Given the description of an element on the screen output the (x, y) to click on. 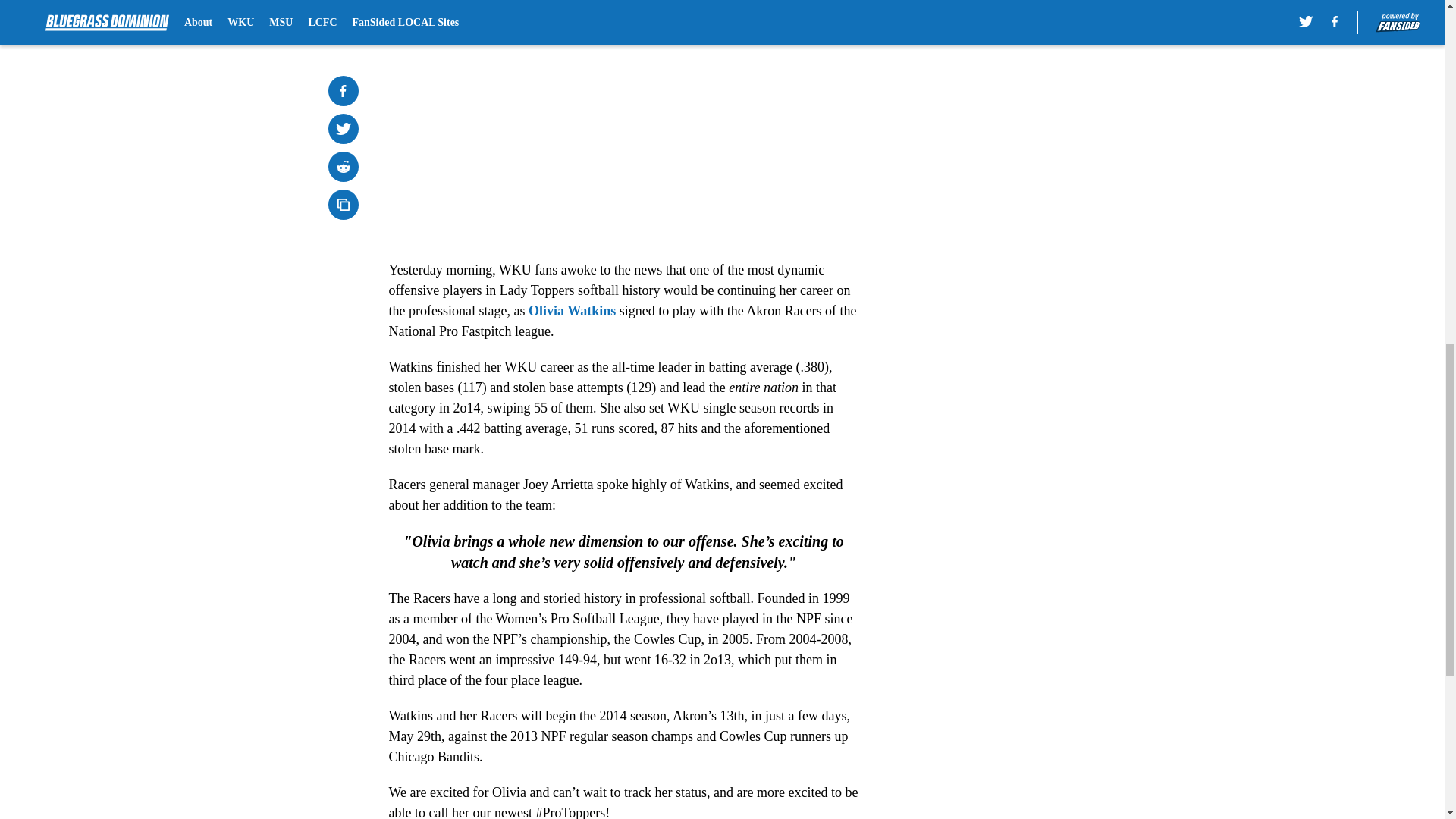
Olivia Watkins (571, 310)
